Given the description of an element on the screen output the (x, y) to click on. 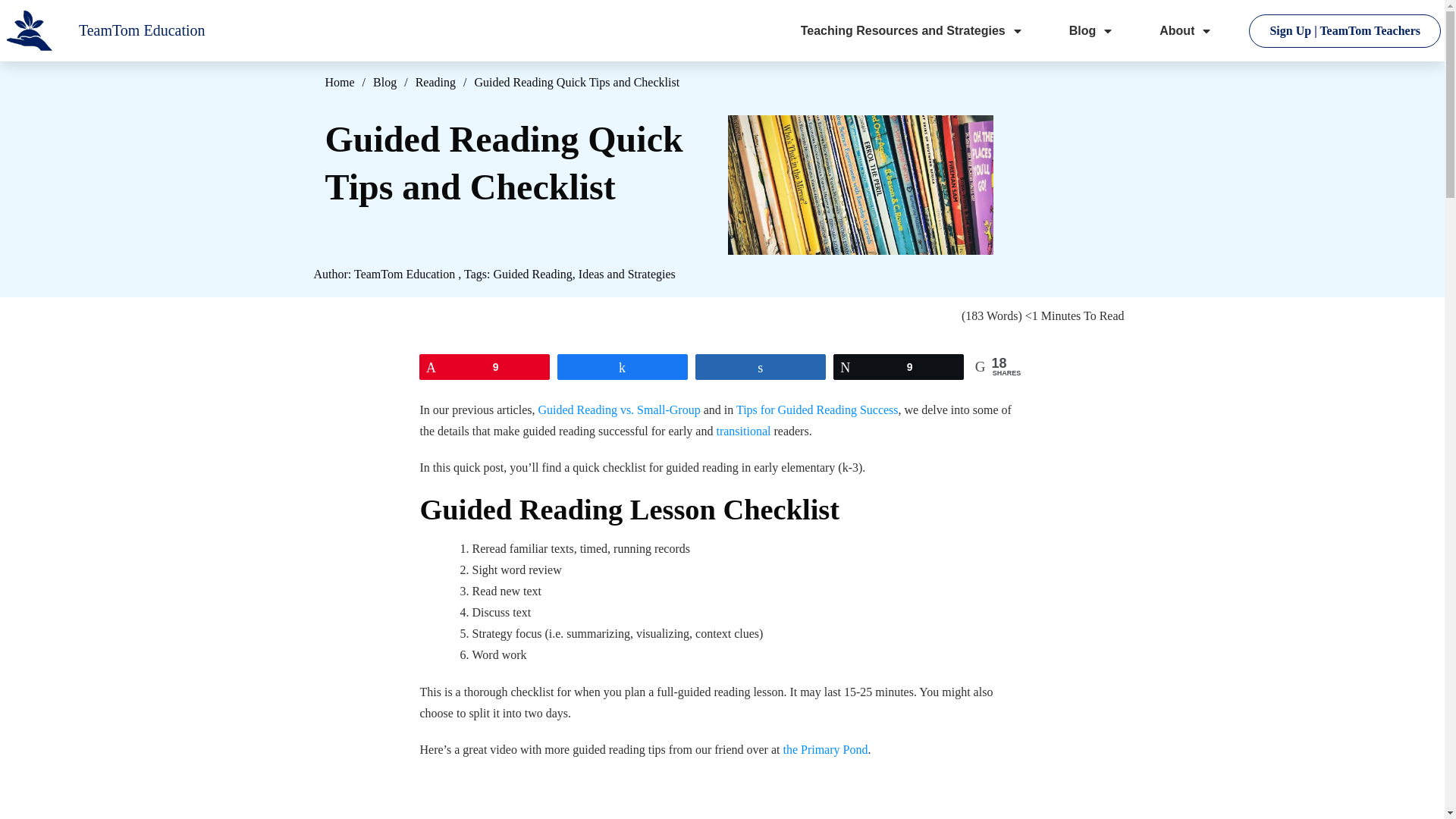
Guided Reading (532, 273)
Ideas and Strategies (626, 273)
Blog (1091, 30)
Guided Reading Quick Tips and Checklist (860, 181)
Teaching Resources and Strategies (911, 30)
About (1185, 30)
TeamTom Education (403, 273)
